Given the description of an element on the screen output the (x, y) to click on. 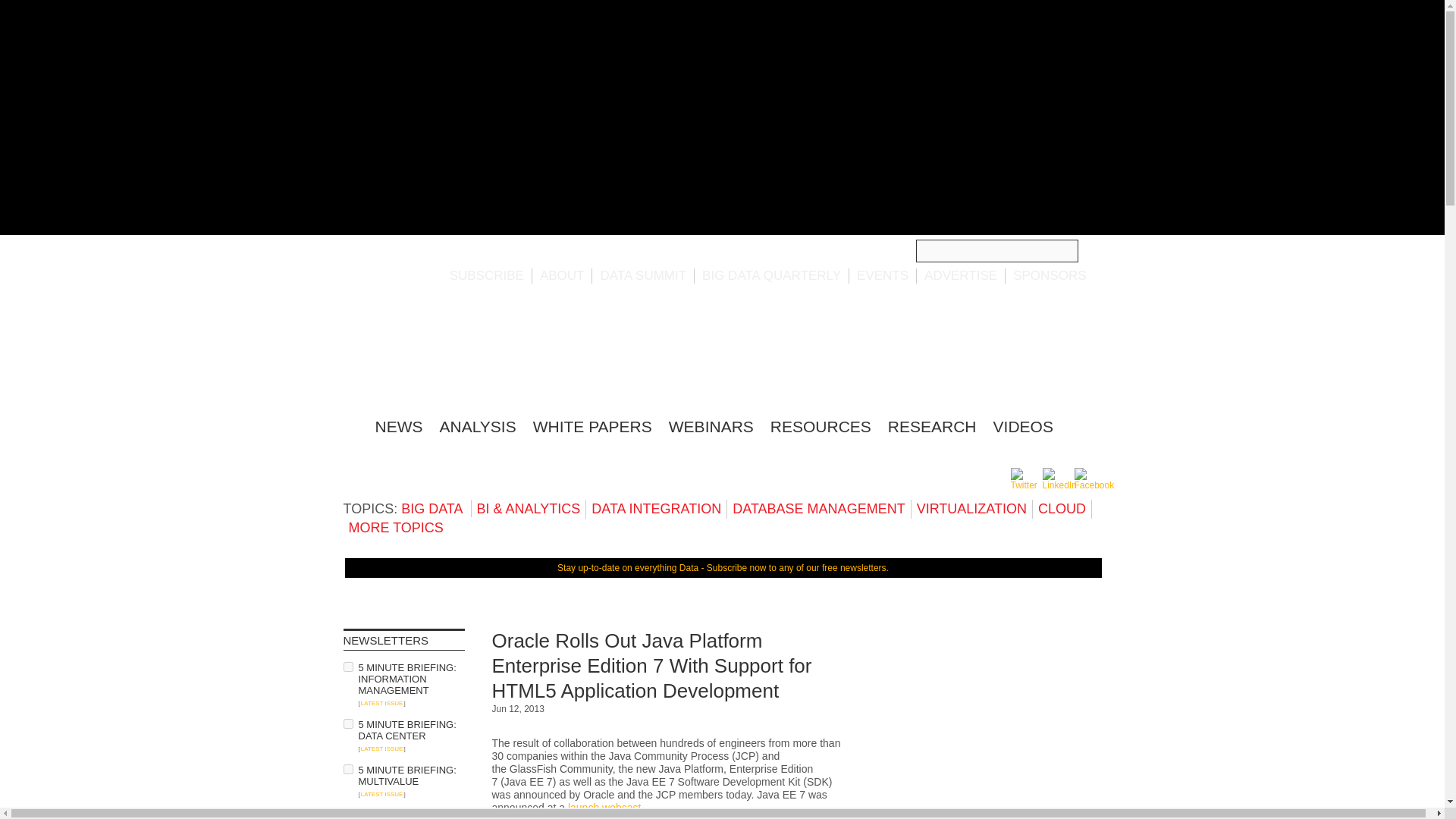
DATA SUMMIT (642, 275)
WEBINARS (711, 425)
DBTA (434, 352)
WHITE PAPERS (592, 425)
on (347, 666)
BIG DATA QUARTERLY (771, 275)
Database Trends and Applications Home (350, 424)
HOME (350, 424)
DBTA on Facebook (1093, 484)
